Given the description of an element on the screen output the (x, y) to click on. 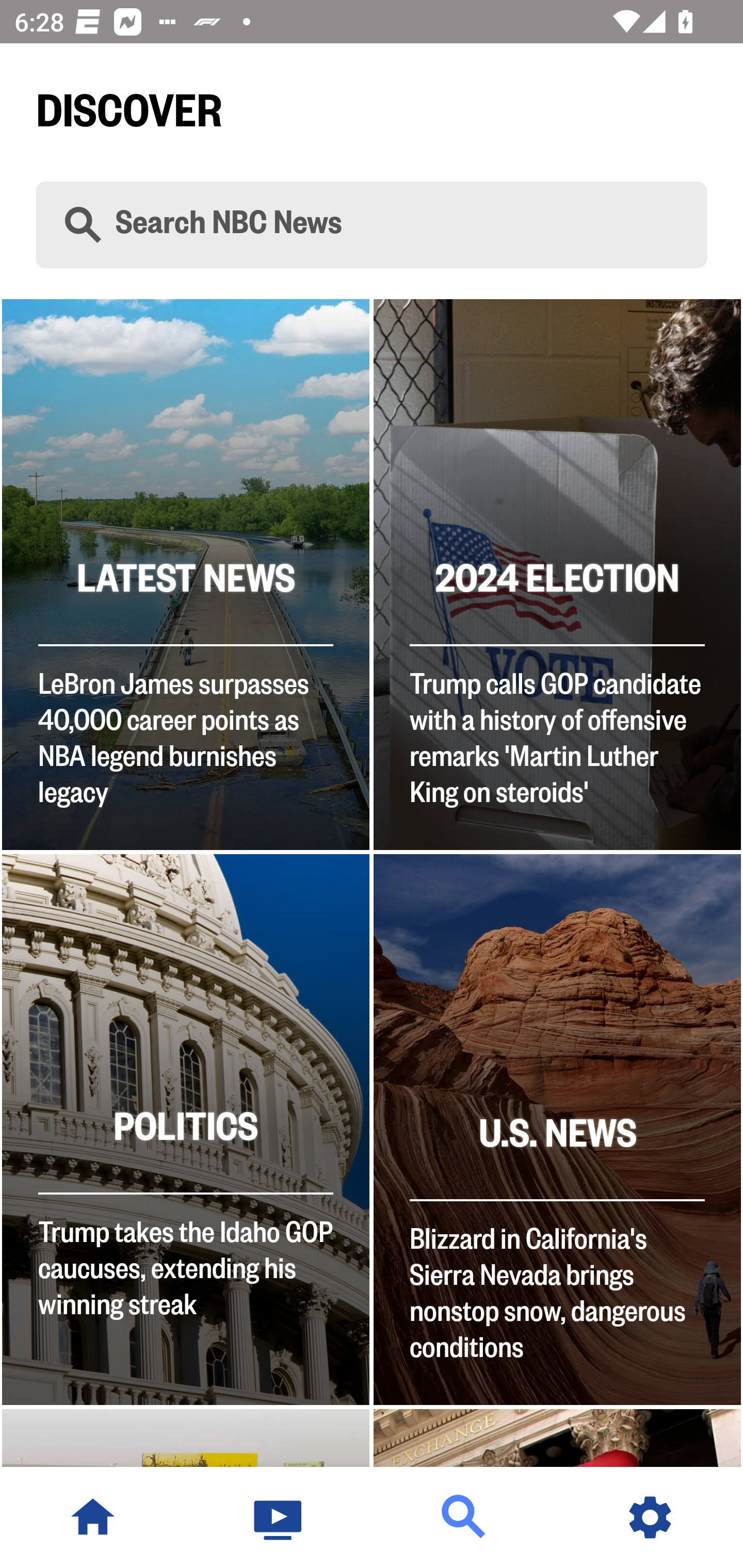
NBC News Home (92, 1517)
Watch (278, 1517)
Settings (650, 1517)
